Given the description of an element on the screen output the (x, y) to click on. 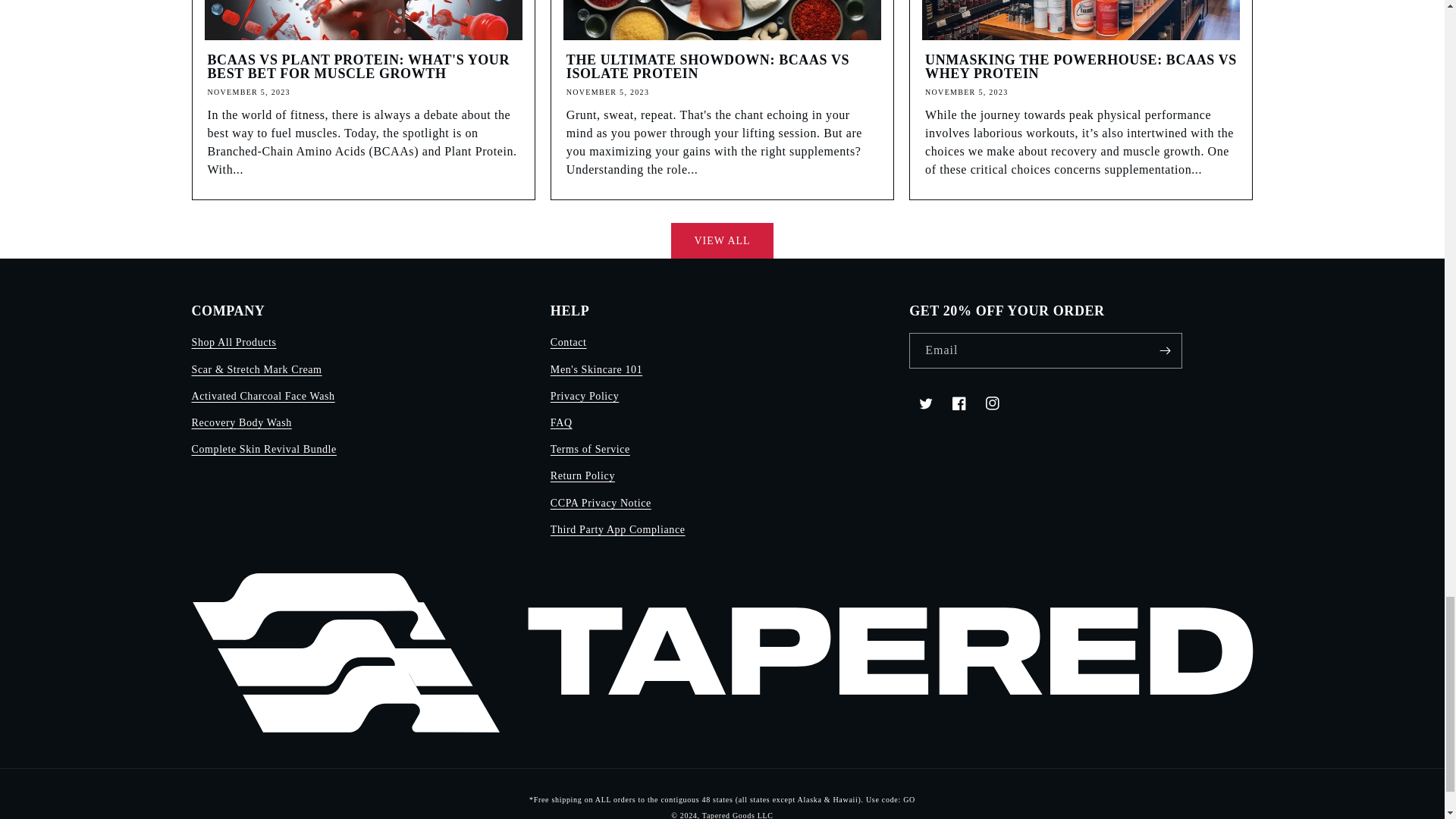
UNMASKING THE POWERHOUSE: BCAAS VS WHEY PROTEIN (1080, 66)
Shop All Products (233, 343)
VIEW ALL (722, 240)
THE ULTIMATE SHOWDOWN: BCAAS VS ISOLATE PROTEIN (721, 66)
